Given the description of an element on the screen output the (x, y) to click on. 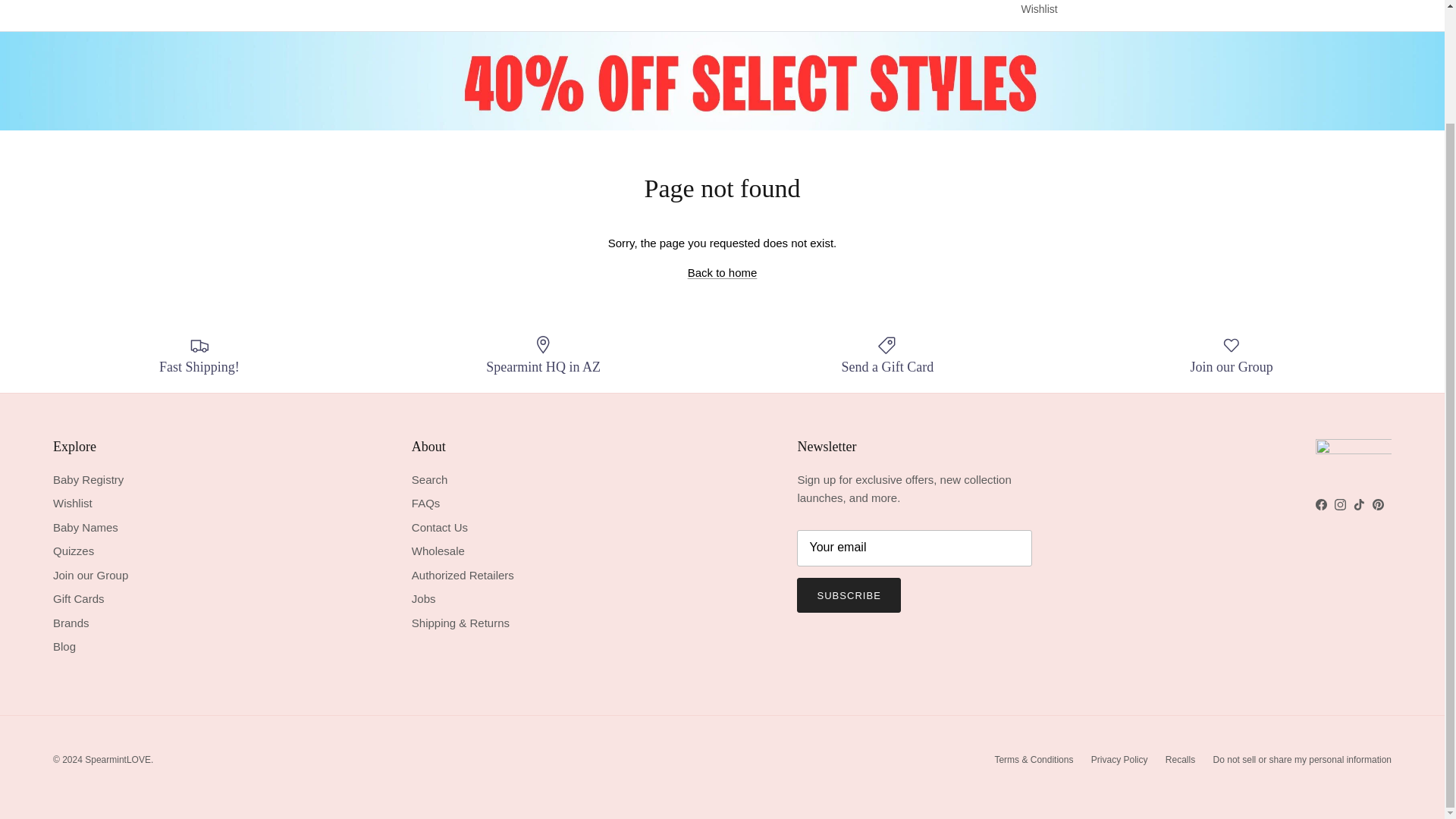
NEW (330, 0)
SpearmintLOVE on Facebook (1321, 504)
SpearmintLOVE on Pinterest (1378, 504)
SpearmintLOVE on Instagram (1340, 504)
SpearmintLOVE on TikTok (1359, 504)
